Given the description of an element on the screen output the (x, y) to click on. 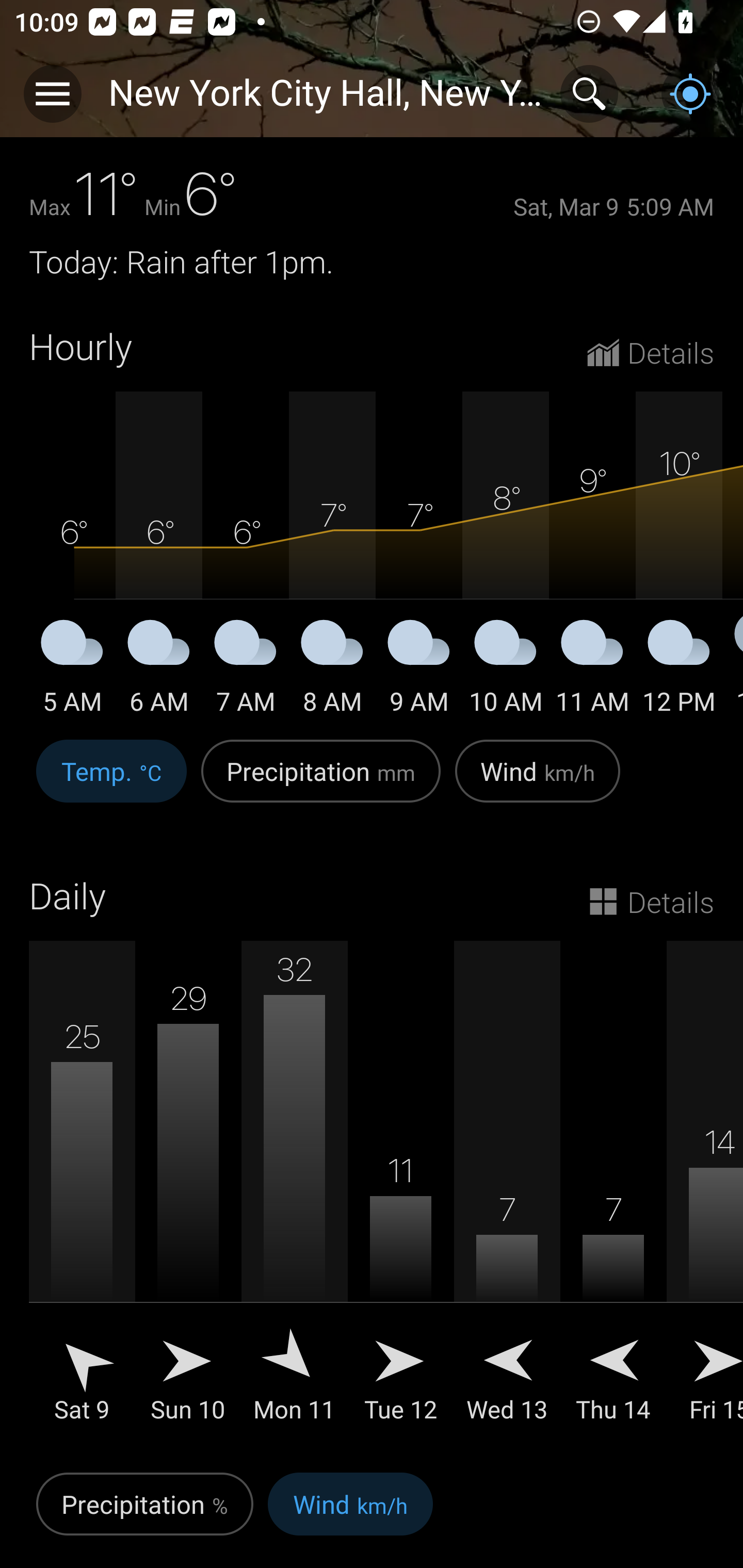
Severe Weather Alerts Gale Watch  (371, 103)
5 AM 6 AM 7 AM 8 AM 9 AM 10 AM 11 AM 12 PM 1 PM (371, 554)
5 AM (71, 670)
6 AM (158, 670)
7 AM (245, 670)
8 AM (332, 670)
9 AM (418, 670)
10 AM (505, 670)
11 AM (592, 670)
12 PM (679, 670)
Temp. °C (110, 781)
Precipitation mm (320, 781)
Wind km/h (537, 781)
25  Sat 9 (81, 1195)
29  Sun 10 (188, 1195)
32  Mon 11 (294, 1195)
11  Tue 12 (400, 1195)
7  Wed 13 (506, 1195)
7  Thu 14 (613, 1195)
14  Fri 15 (704, 1195)
Precipitation % (144, 1515)
Wind km/h (349, 1515)
